Given the description of an element on the screen output the (x, y) to click on. 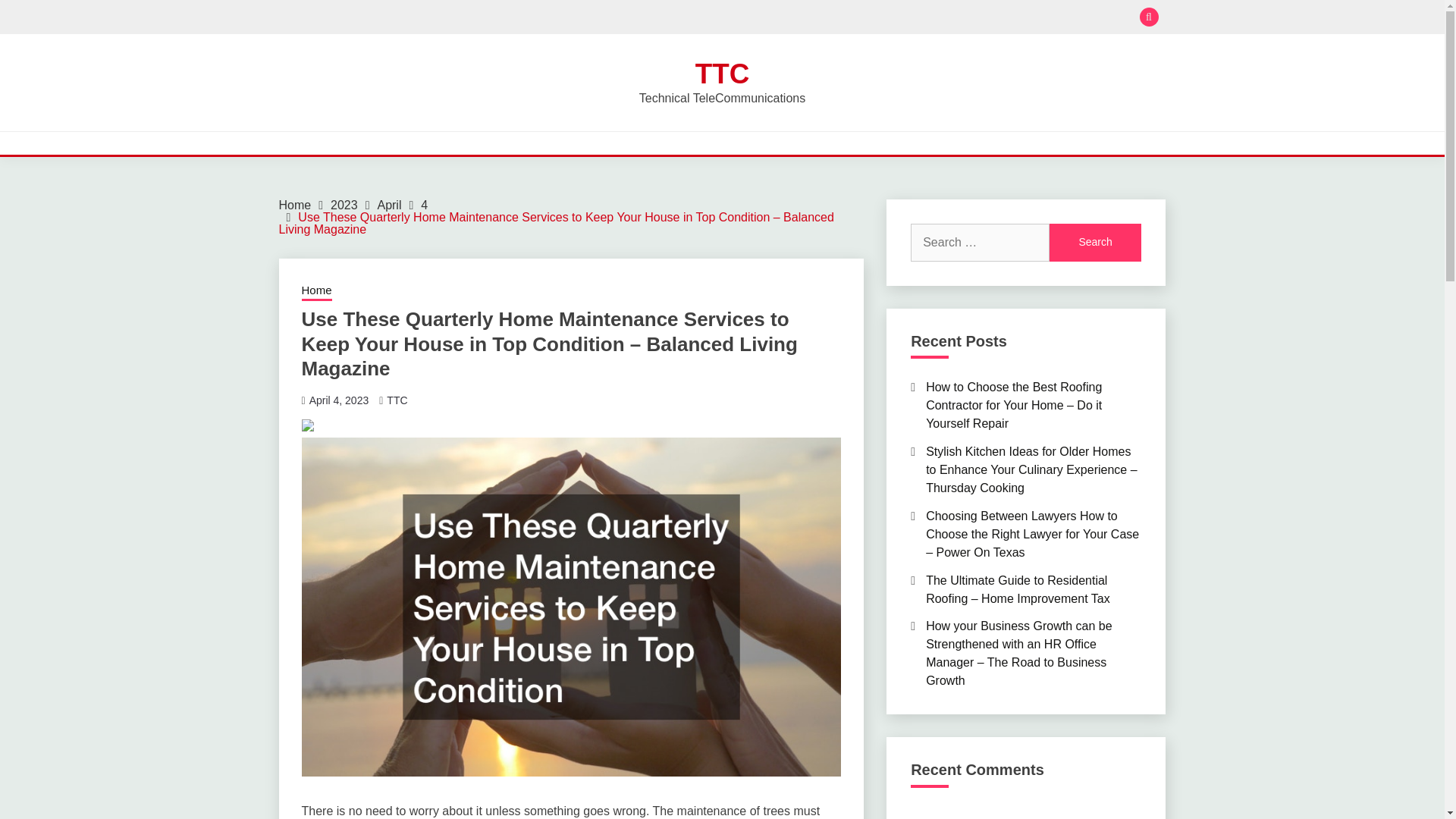
Home (316, 291)
2023 (344, 205)
April (389, 205)
TTC (722, 73)
Home (295, 205)
April 4, 2023 (338, 399)
Search (1095, 242)
Search (832, 18)
TTC (397, 399)
Search (1095, 242)
